Given the description of an element on the screen output the (x, y) to click on. 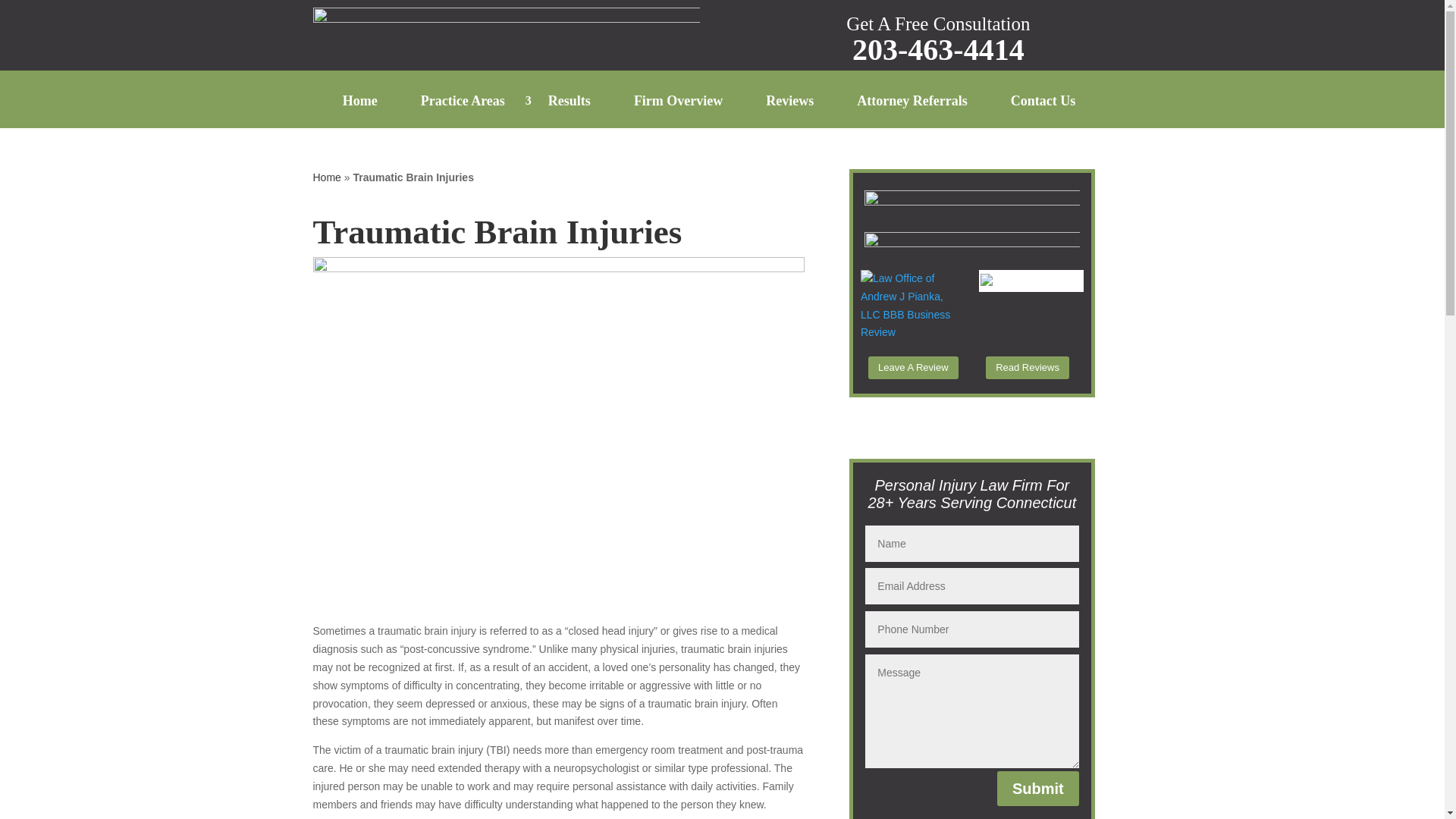
View Lawyers.com Profile (985, 282)
Text-Stars (972, 241)
Home (373, 111)
Firm Overview (691, 111)
Practice Areas (475, 111)
Attorney Referrals (924, 111)
Submit (1037, 788)
Home (326, 177)
Read Reviews (1026, 367)
